Given the description of an element on the screen output the (x, y) to click on. 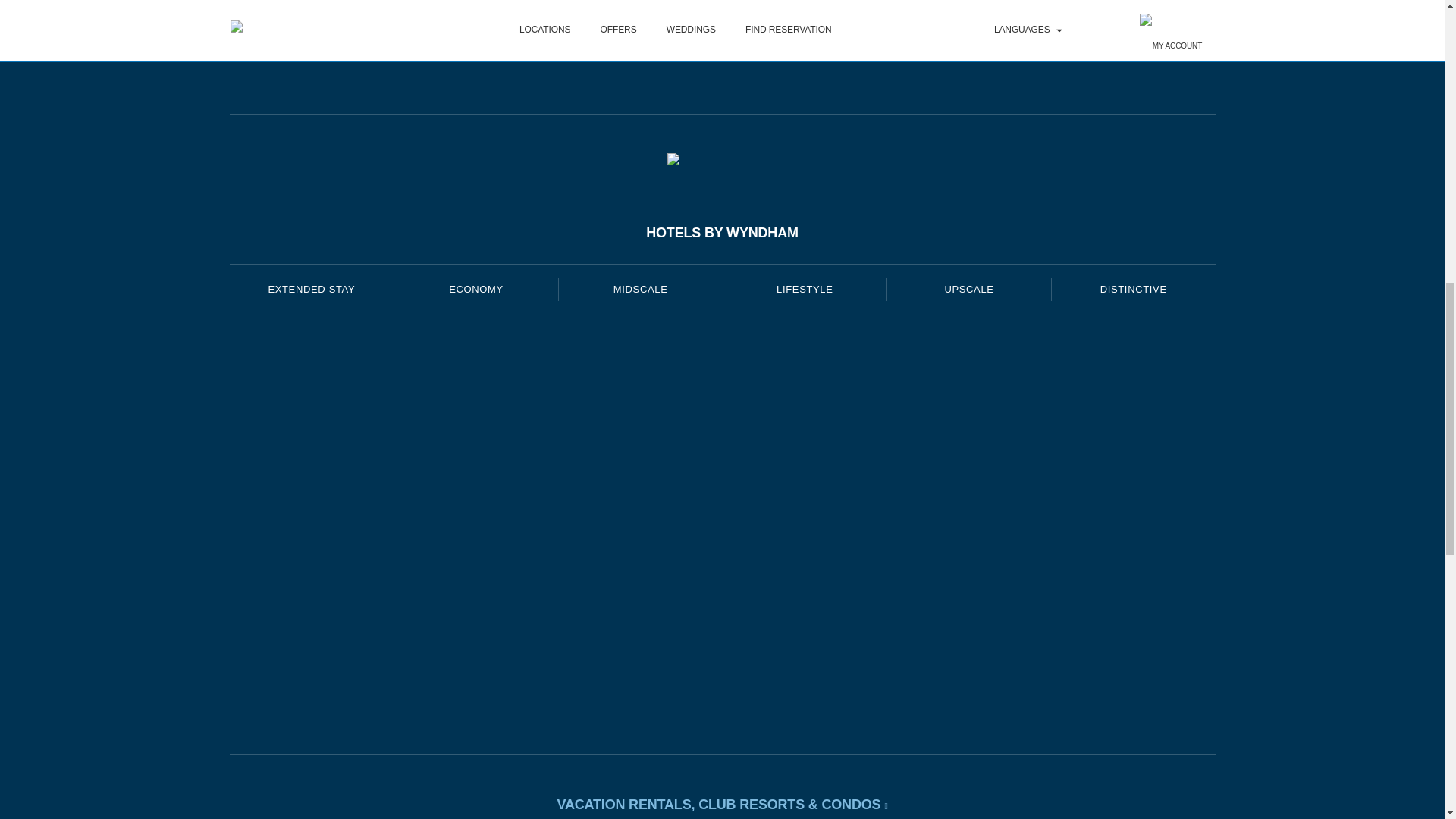
Esplendor by Wyndham (803, 397)
TRYP by Wyndham (803, 344)
Wyndham Garden (640, 453)
Days Inn (475, 341)
Vienna House (803, 512)
Ramada Ecore (640, 680)
La Quinta (640, 344)
Wyndham Alltra (803, 565)
Ramada Worldwide (640, 623)
Wyndham Rewards (721, 160)
Howard Johnson (475, 510)
Ramada Ecore (640, 678)
Travelodge (475, 567)
Wingate by Wyndham (640, 400)
Howard Johnson (475, 512)
